Given the description of an element on the screen output the (x, y) to click on. 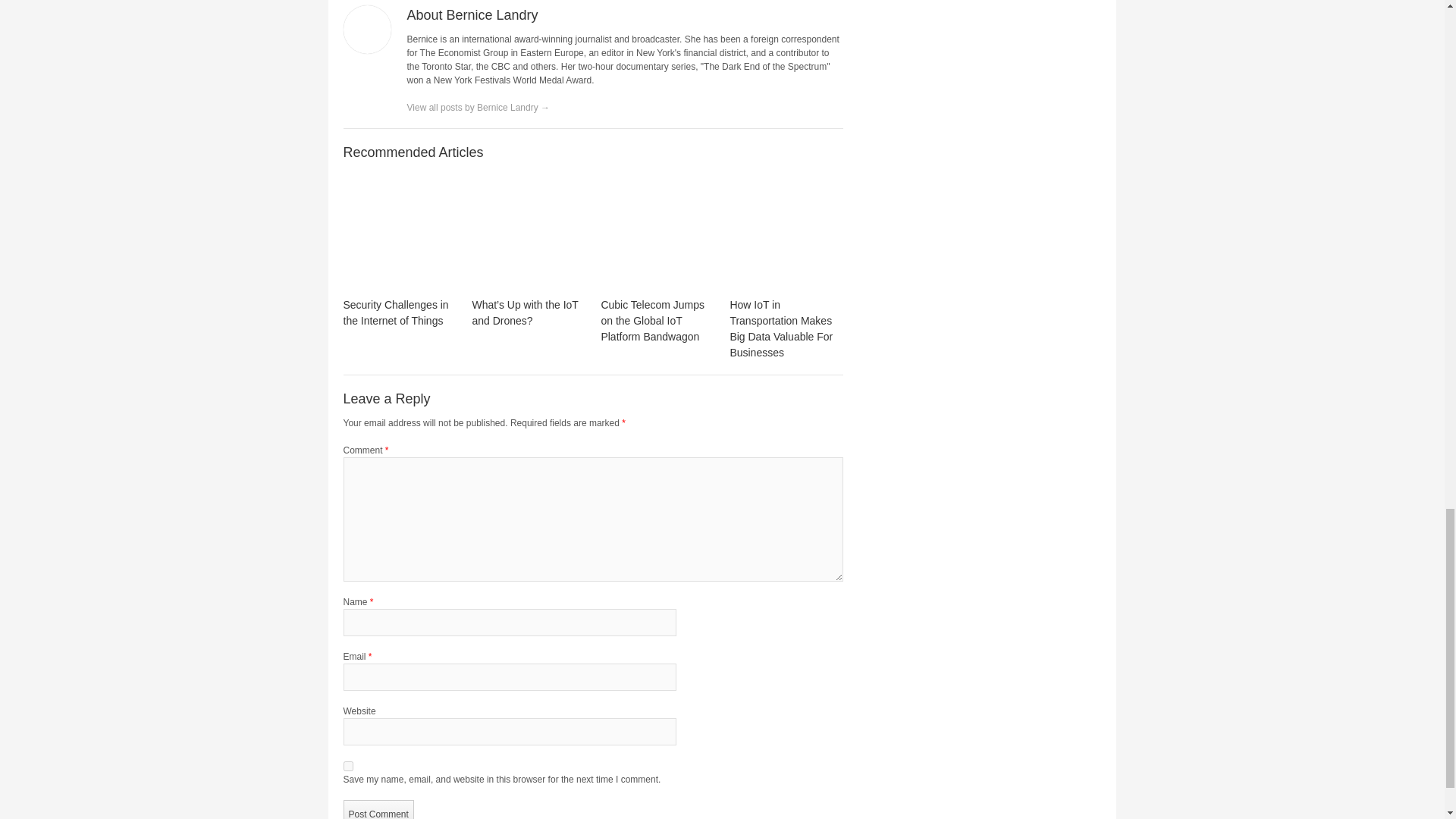
Cubic Telecom Jumps on the Global IoT Platform Bandwagon (651, 320)
Security Challenges in the Internet of Things (399, 233)
yes (347, 766)
Security Challenges in the Internet of Things (395, 312)
Cubic Telecom Jumps on the Global IoT Platform Bandwagon (656, 233)
